Given the description of an element on the screen output the (x, y) to click on. 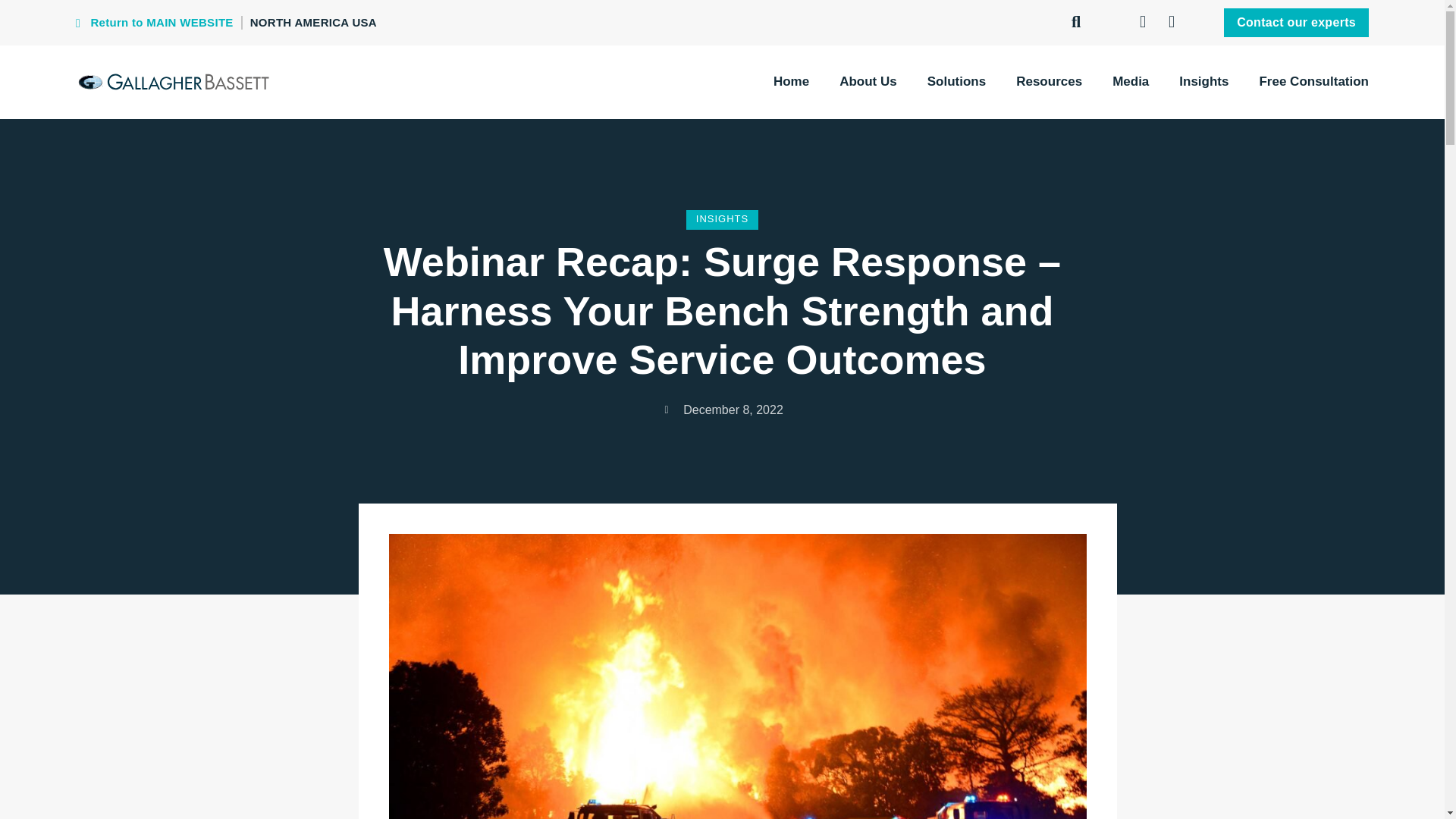
Contact our experts (1296, 21)
Solutions (956, 82)
Return to MAIN WEBSITE (153, 22)
Free Consultation (1313, 82)
Insights (1203, 82)
About Us (868, 82)
Resources (1048, 82)
